Given the description of an element on the screen output the (x, y) to click on. 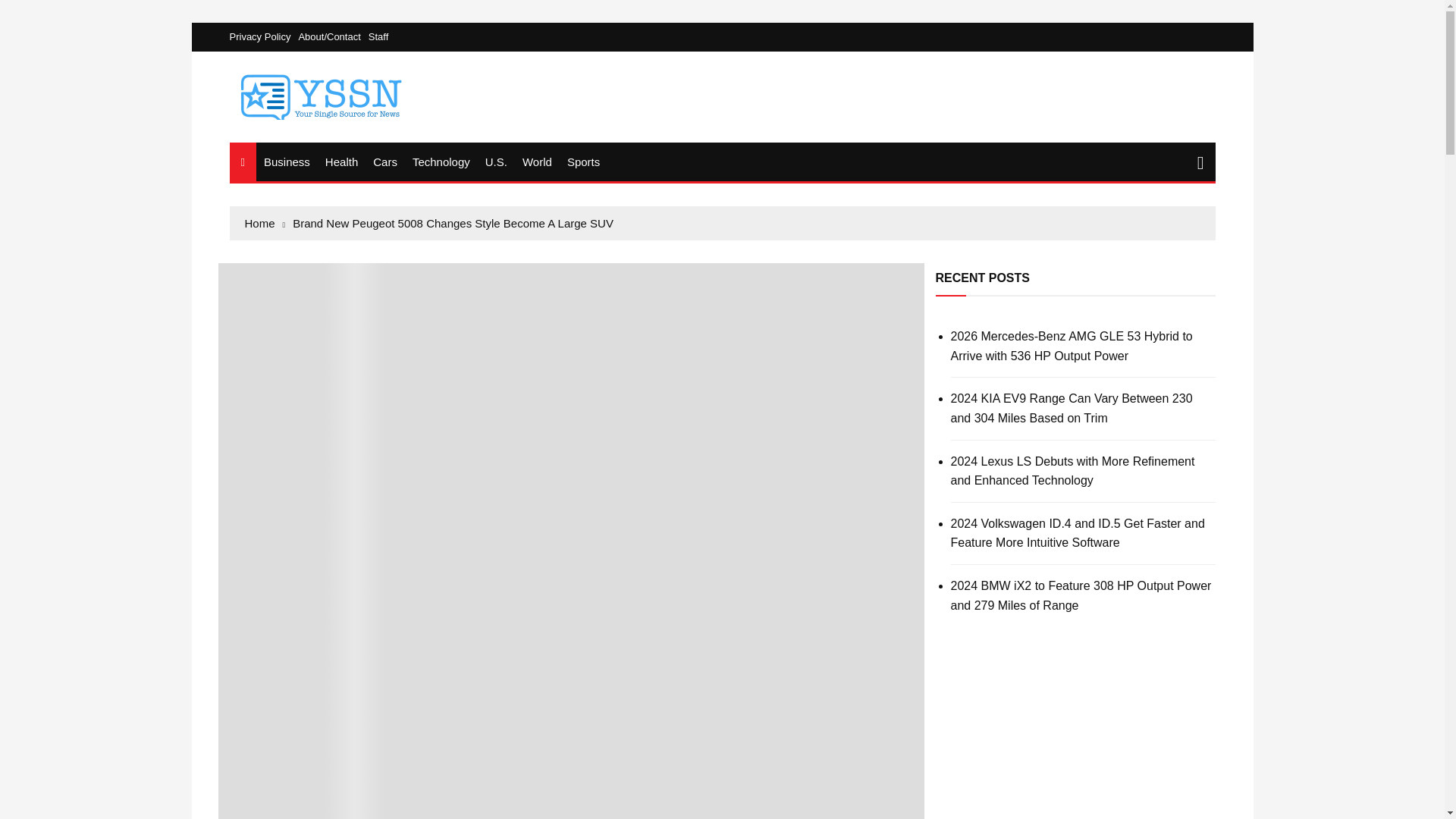
Home (264, 223)
World (537, 161)
Cars (384, 161)
Health (341, 161)
U.S. (496, 161)
Sports (583, 161)
Privacy Policy (263, 36)
Technology (440, 161)
Business (286, 161)
Brand New Peugeot 5008 Changes Style Become A Large SUV (452, 223)
